Given the description of an element on the screen output the (x, y) to click on. 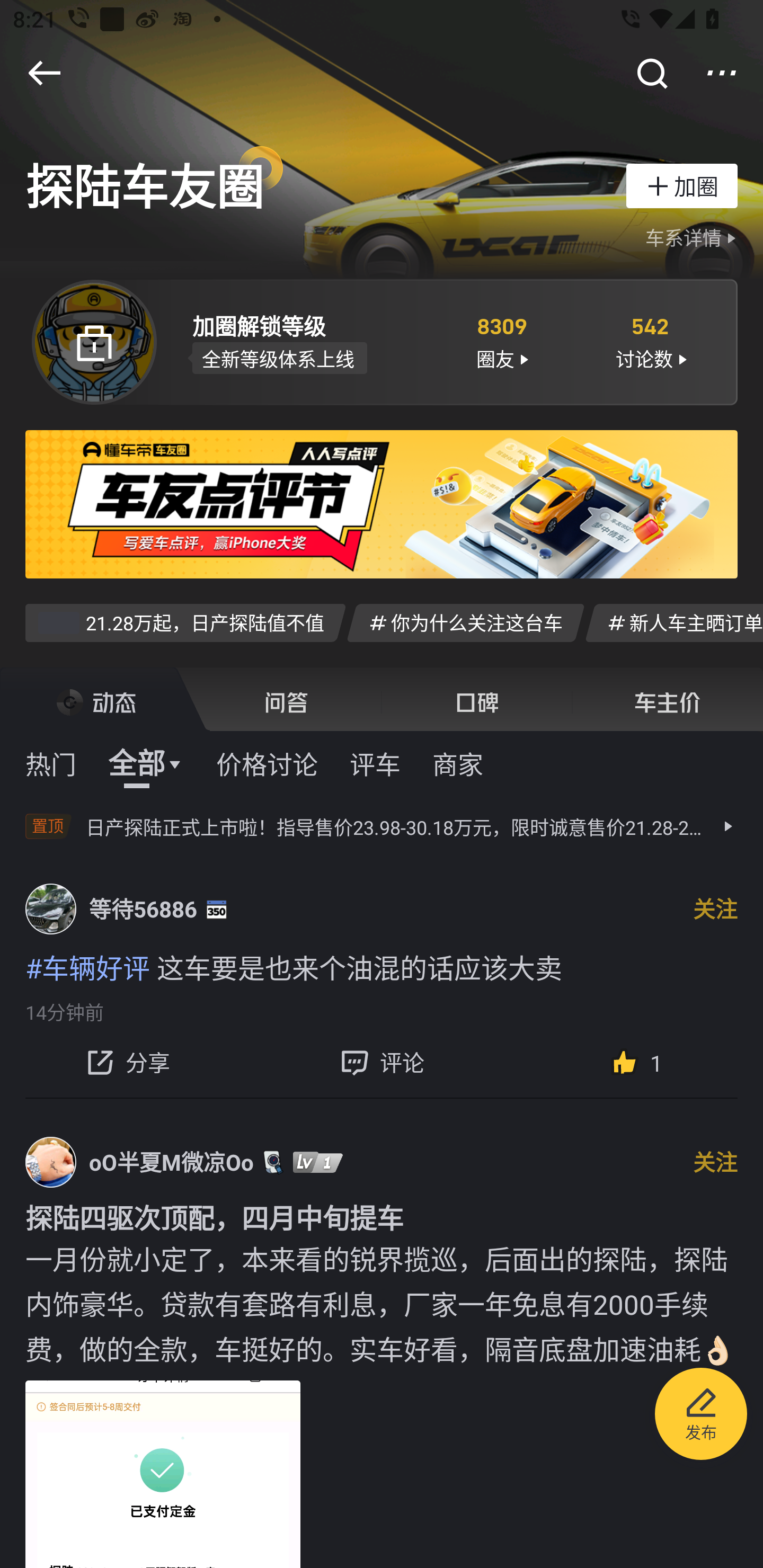
 (44, 72)
 (651, 72)
 (721, 72)
车系详情 (692, 238)
加圈解锁等级 全新等级体系上线 (307, 341)
8309 圈友 (501, 341)
542 讨论数 (650, 341)
打卡 21.28万起，日产探陆值不值 (185, 622)
 你为什么关注这台车 (465, 622)
 新人车主晒订单 (674, 622)
热门 (50, 762)
全部  (146, 762)
价格讨论 (266, 762)
评车 (374, 762)
商家 (457, 762)
关注 (714, 909)
等待56886 (142, 909)
#车辆好评 这车要是也来个油混的话应该大卖 (381, 966)
 分享 (127, 1062)
 评论 (381, 1062)
1 (635, 1062)
关注 (714, 1161)
oO半夏M微凉Oo (171, 1161)
 发布 (701, 1416)
